Given the description of an element on the screen output the (x, y) to click on. 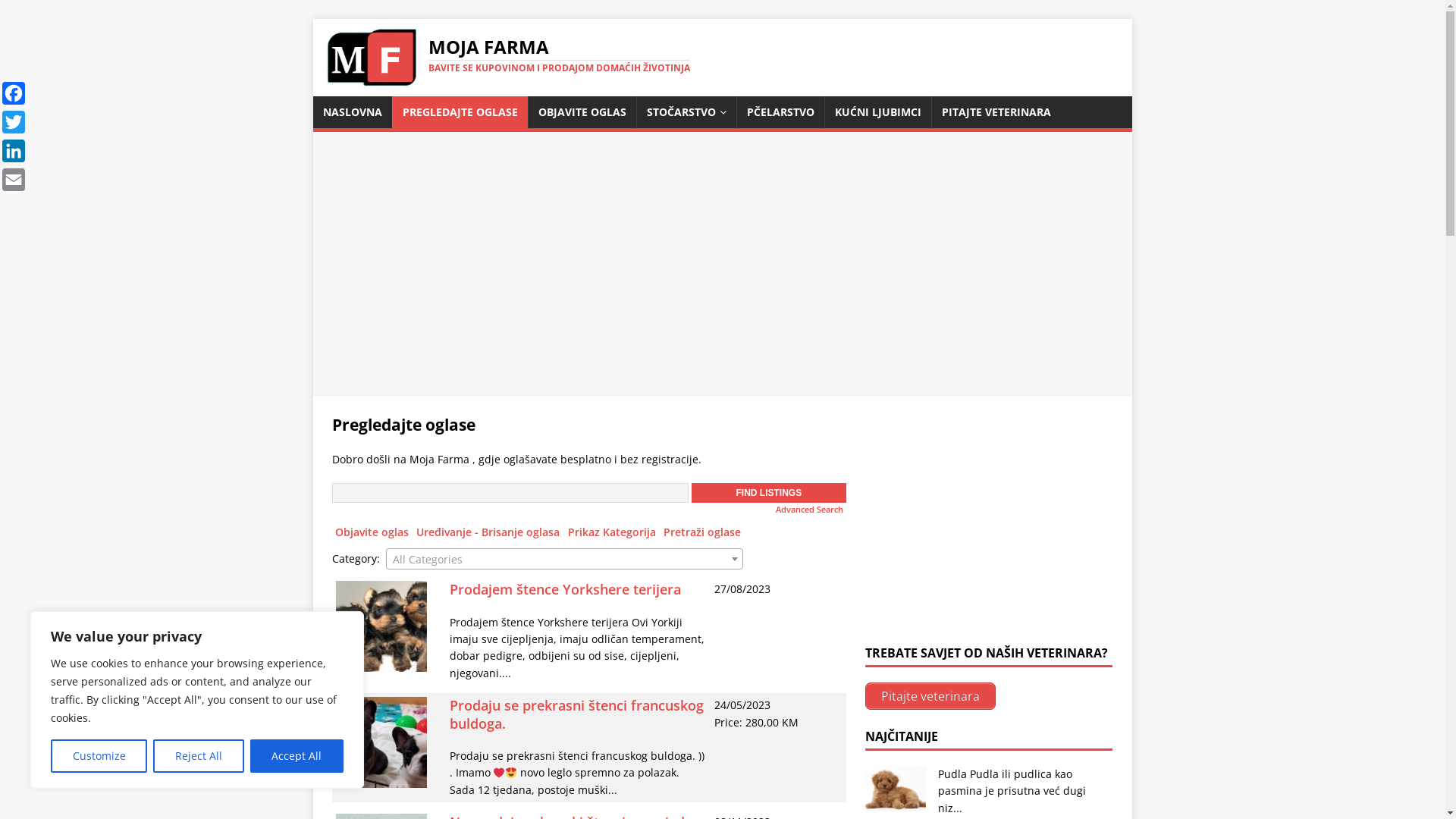
PITAJTE VETERINARA Element type: text (995, 112)
Advertisement Element type: hover (978, 526)
Pudla Element type: text (952, 773)
Reject All Element type: text (198, 755)
Accept All Element type: text (296, 755)
Pitajte veterinara Element type: text (930, 695)
Prikaz Kategorija Element type: text (611, 532)
NASLOVNA Element type: text (351, 112)
PREGLEDAJTE OGLASE Element type: text (459, 112)
Advanced Search Element type: text (809, 508)
OBJAVITE OGLAS Element type: text (581, 112)
Objavite oglas Element type: text (371, 532)
Advertisement Element type: hover (721, 272)
Customize Element type: text (98, 755)
Find Listings Element type: text (768, 492)
